Given the description of an element on the screen output the (x, y) to click on. 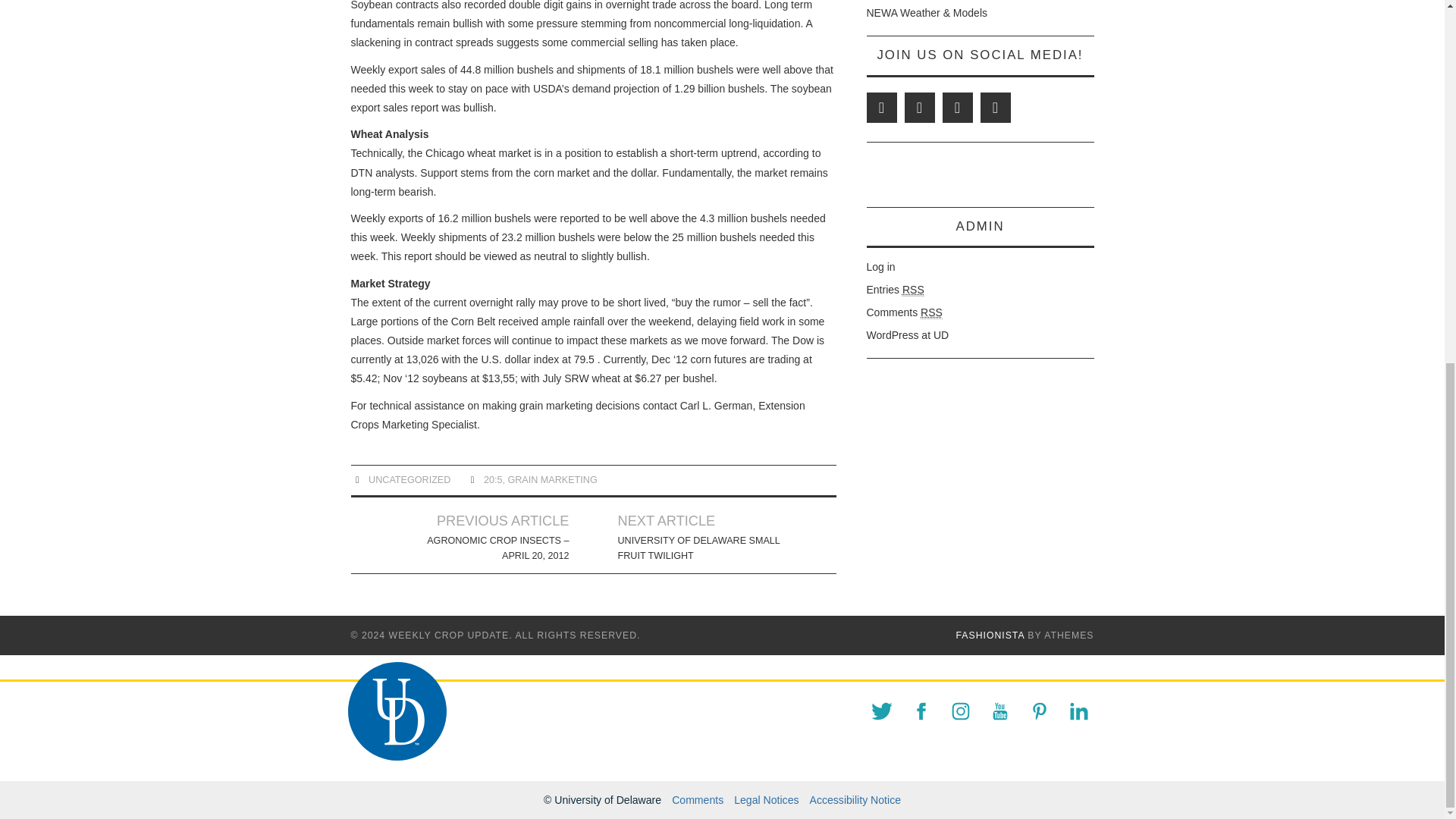
GRAIN MARKETING (551, 480)
Instagram (994, 107)
Really Simple Syndication (931, 312)
Twitter (881, 107)
YouTube (957, 107)
UNCATEGORIZED (408, 480)
FASHIONISTA (990, 634)
Syndicate this site using RSS 2.0 (894, 289)
The latest comments to all posts in RSS (904, 312)
Entries RSS (894, 289)
